Given the description of an element on the screen output the (x, y) to click on. 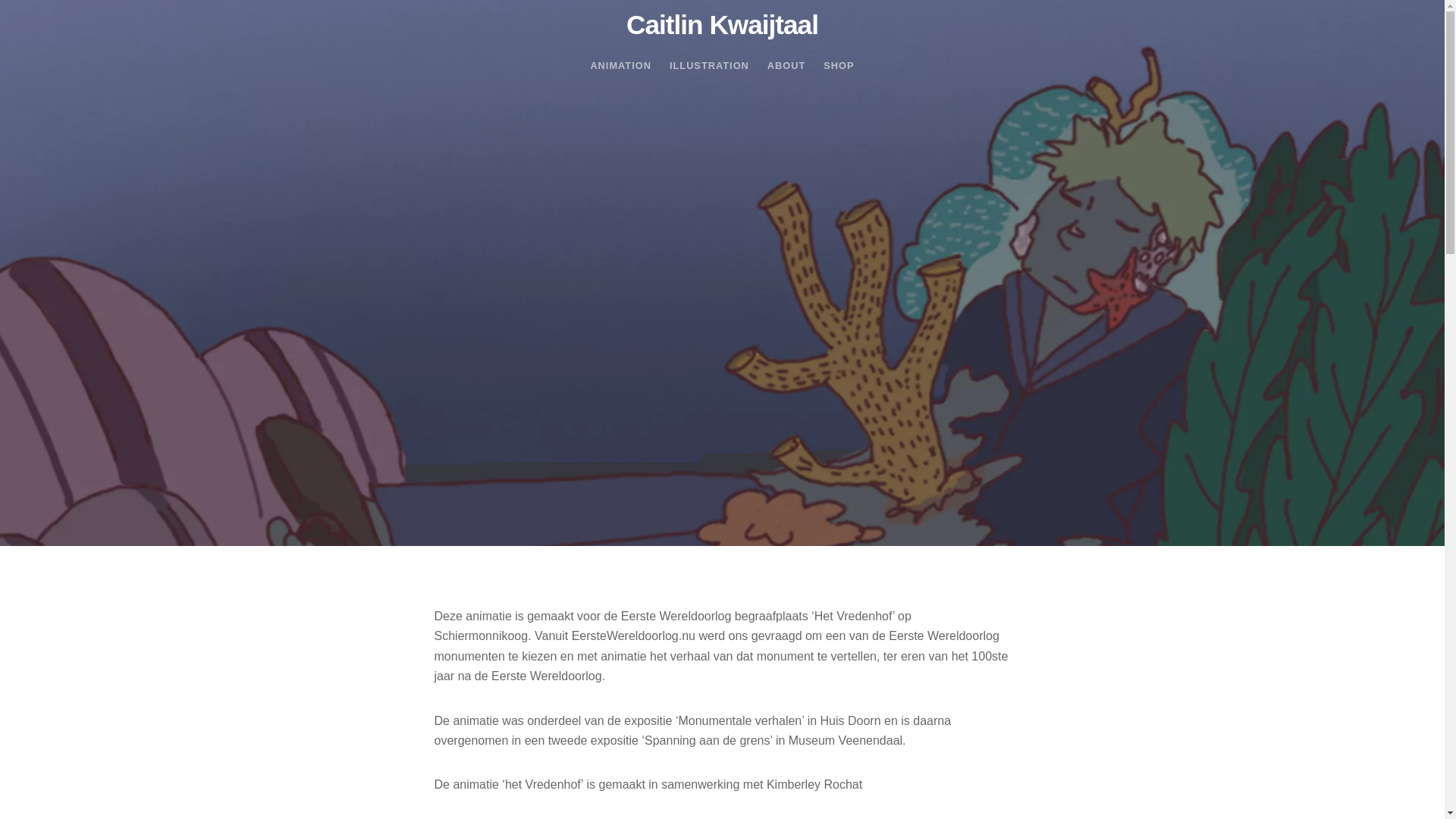
ABOUT (786, 65)
ILLUSTRATION (709, 65)
Caitlin Kwaijtaal (722, 24)
ANIMATION (620, 65)
SHOP (838, 65)
